Given the description of an element on the screen output the (x, y) to click on. 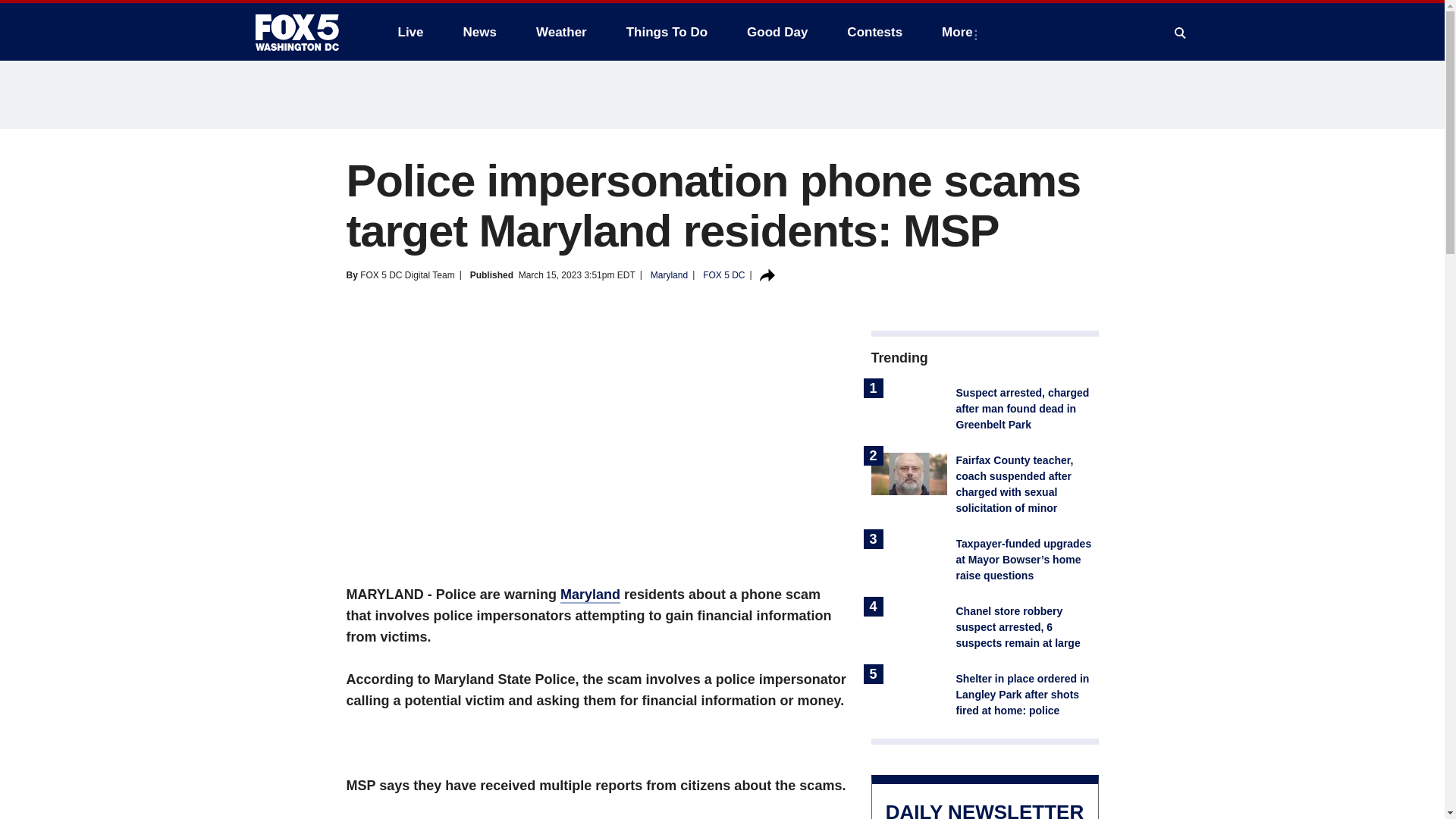
More (960, 32)
Contests (874, 32)
Weather (561, 32)
Things To Do (666, 32)
Live (410, 32)
News (479, 32)
Good Day (777, 32)
